Given the description of an element on the screen output the (x, y) to click on. 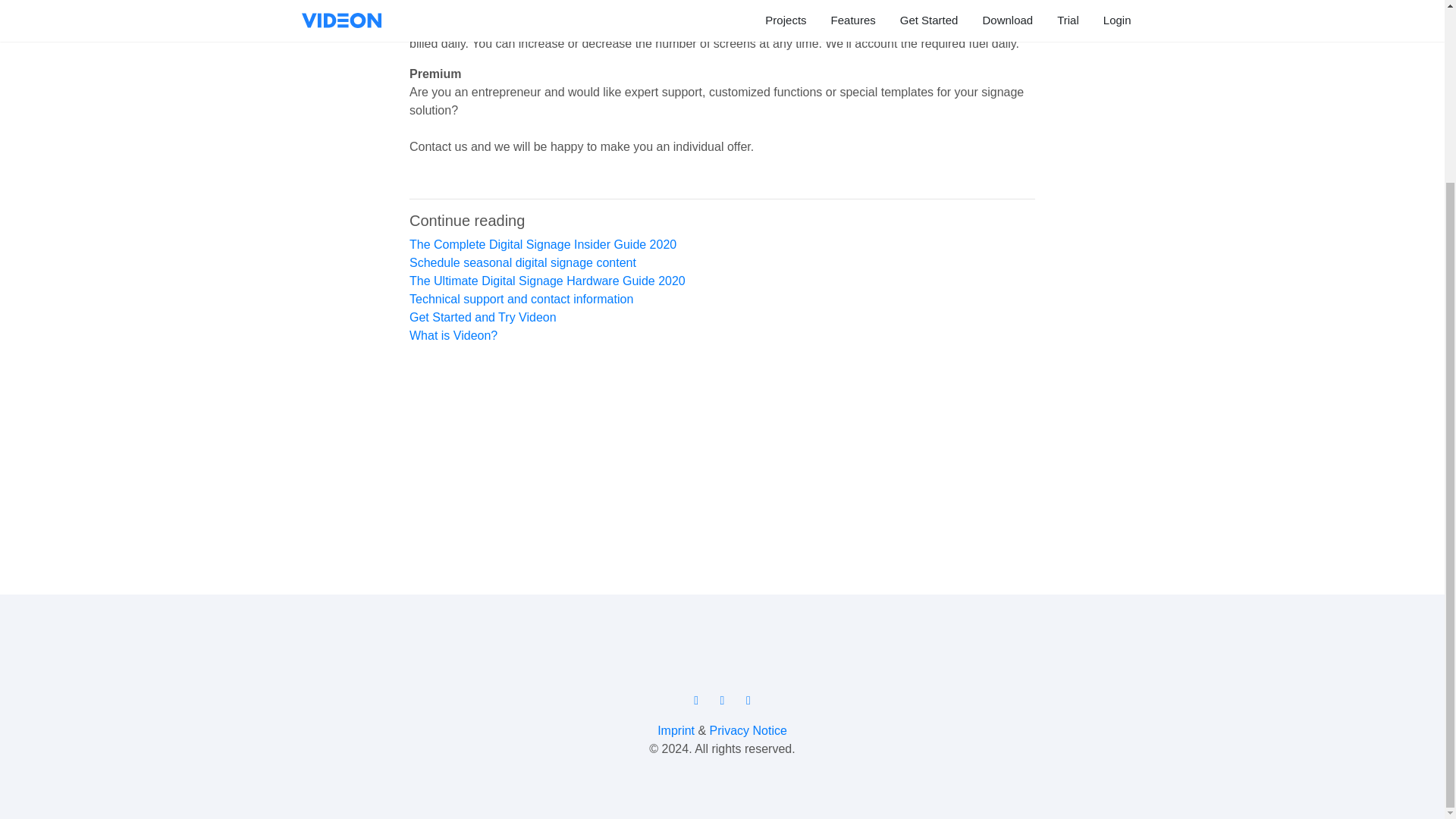
The Complete Digital Signage Insider Guide 2020 (543, 244)
Permanent Link to Technical support and contact information (521, 298)
What is Videon? (453, 335)
Schedule seasonal digital signage content (522, 262)
Privacy Notice (748, 730)
Technical support and contact information (521, 298)
Permanent Link to Schedule seasonal digital signage content (522, 262)
The Ultimate Digital Signage Hardware Guide 2020 (547, 280)
Imprint (676, 730)
Permanent Link to What is Videon? (453, 335)
Permanent Link to Get Started and Try Videon (482, 317)
Get Started and Try Videon (482, 317)
